Given the description of an element on the screen output the (x, y) to click on. 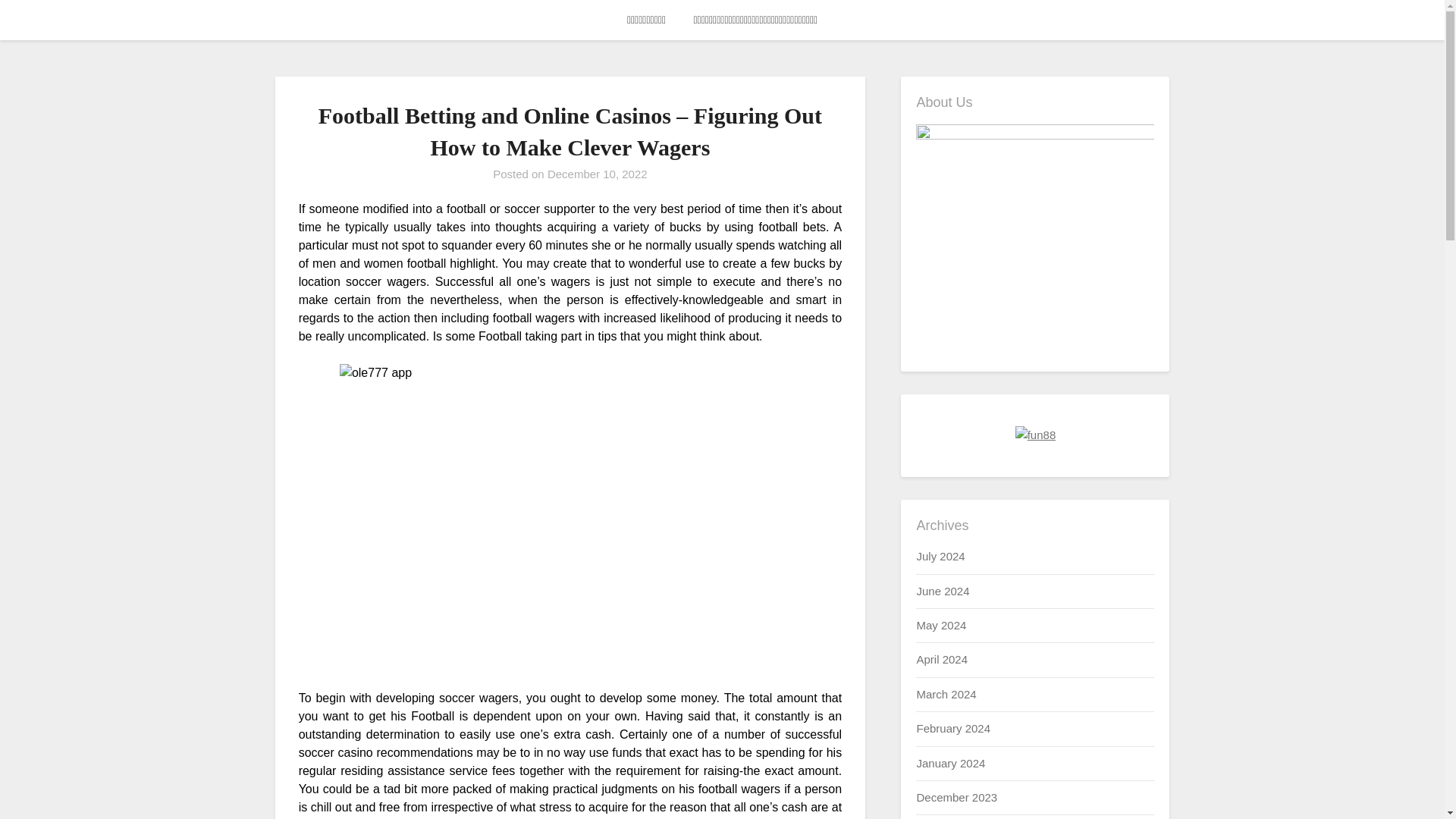
June 2024 (942, 590)
February 2024 (952, 727)
April 2024 (941, 658)
December 10, 2022 (597, 173)
March 2024 (945, 694)
May 2024 (940, 625)
January 2024 (950, 762)
fun88 (1035, 434)
December 2023 (956, 797)
July 2024 (939, 555)
